Given the description of an element on the screen output the (x, y) to click on. 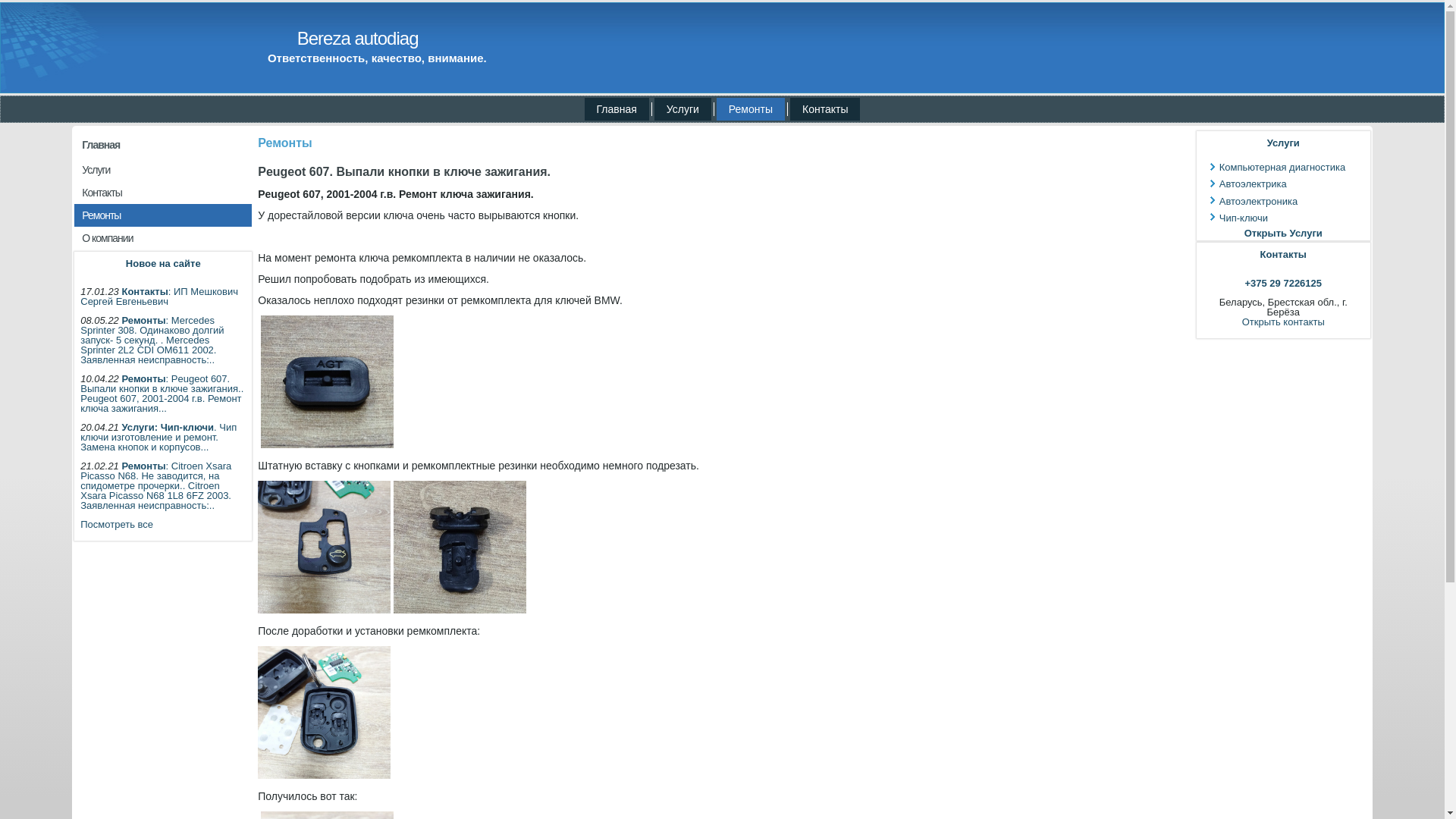
Bereza autodiag Element type: text (357, 38)
+375 29 7226125 Element type: text (1282, 282)
